Given the description of an element on the screen output the (x, y) to click on. 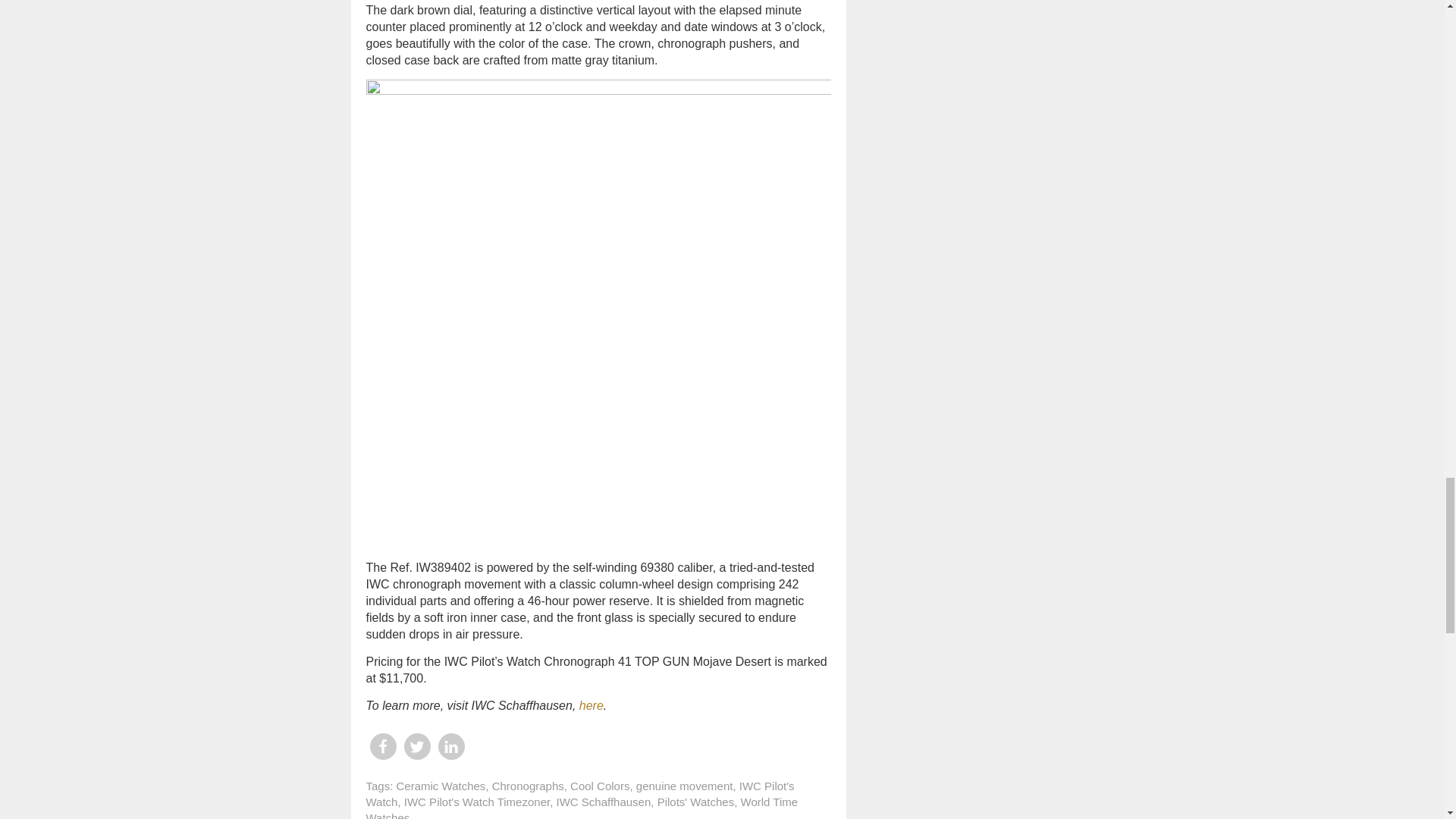
Share on Twitter (416, 746)
Share on LinkedIn (451, 746)
Share on Facebook (382, 746)
